Given the description of an element on the screen output the (x, y) to click on. 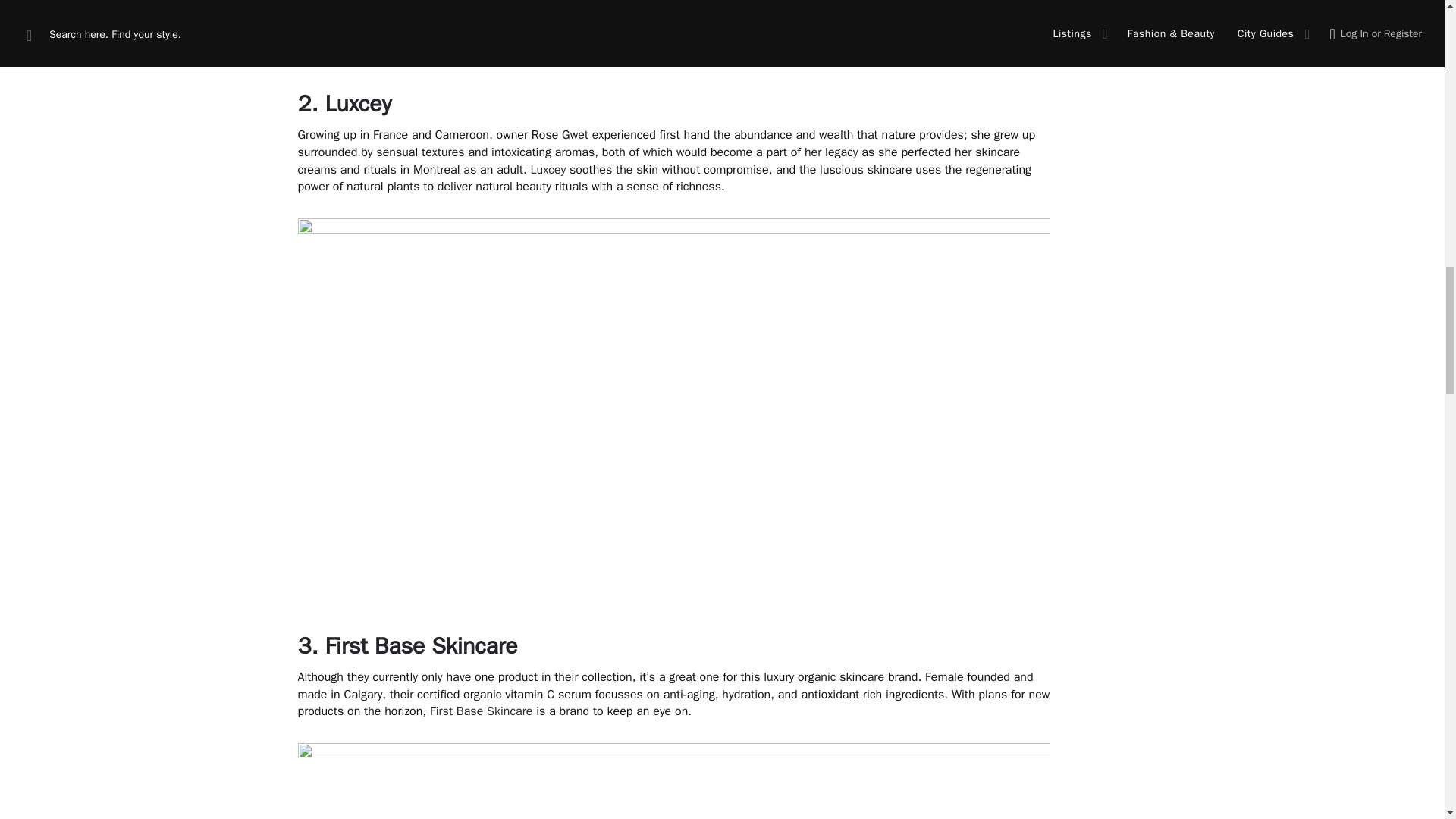
Luxcey (357, 103)
Luxcey (548, 169)
First Base Skincare (420, 645)
First Base Skincare (480, 711)
